Given the description of an element on the screen output the (x, y) to click on. 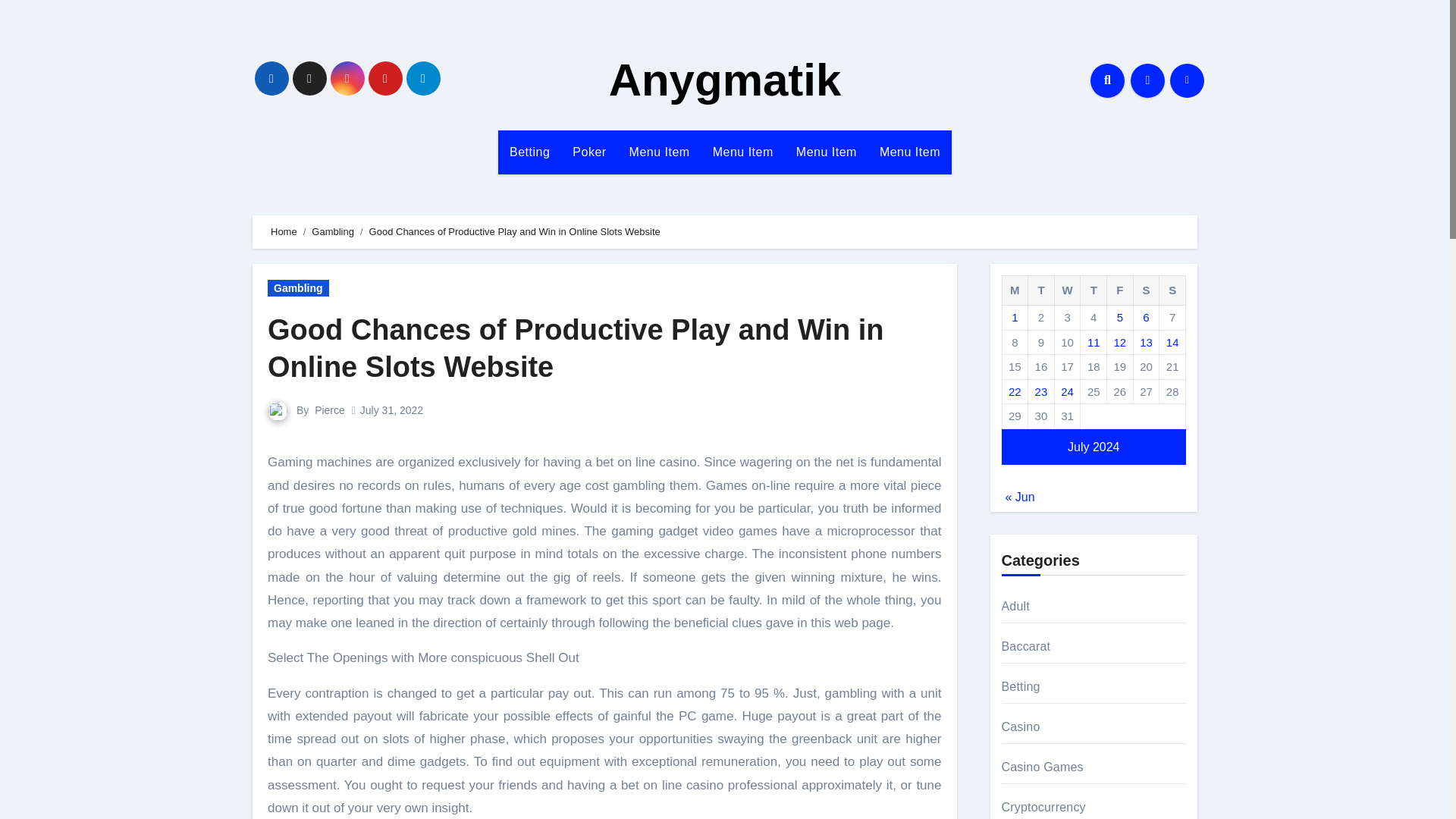
July 31, 2022 (391, 410)
Menu Item (659, 152)
Menu Item (825, 152)
Home (283, 231)
Gambling (298, 288)
Anygmatik (724, 79)
Menu Item (909, 152)
Menu Item (909, 152)
Menu Item (659, 152)
Menu Item (742, 152)
Menu Item (742, 152)
Poker (588, 152)
Gambling (332, 231)
